Given the description of an element on the screen output the (x, y) to click on. 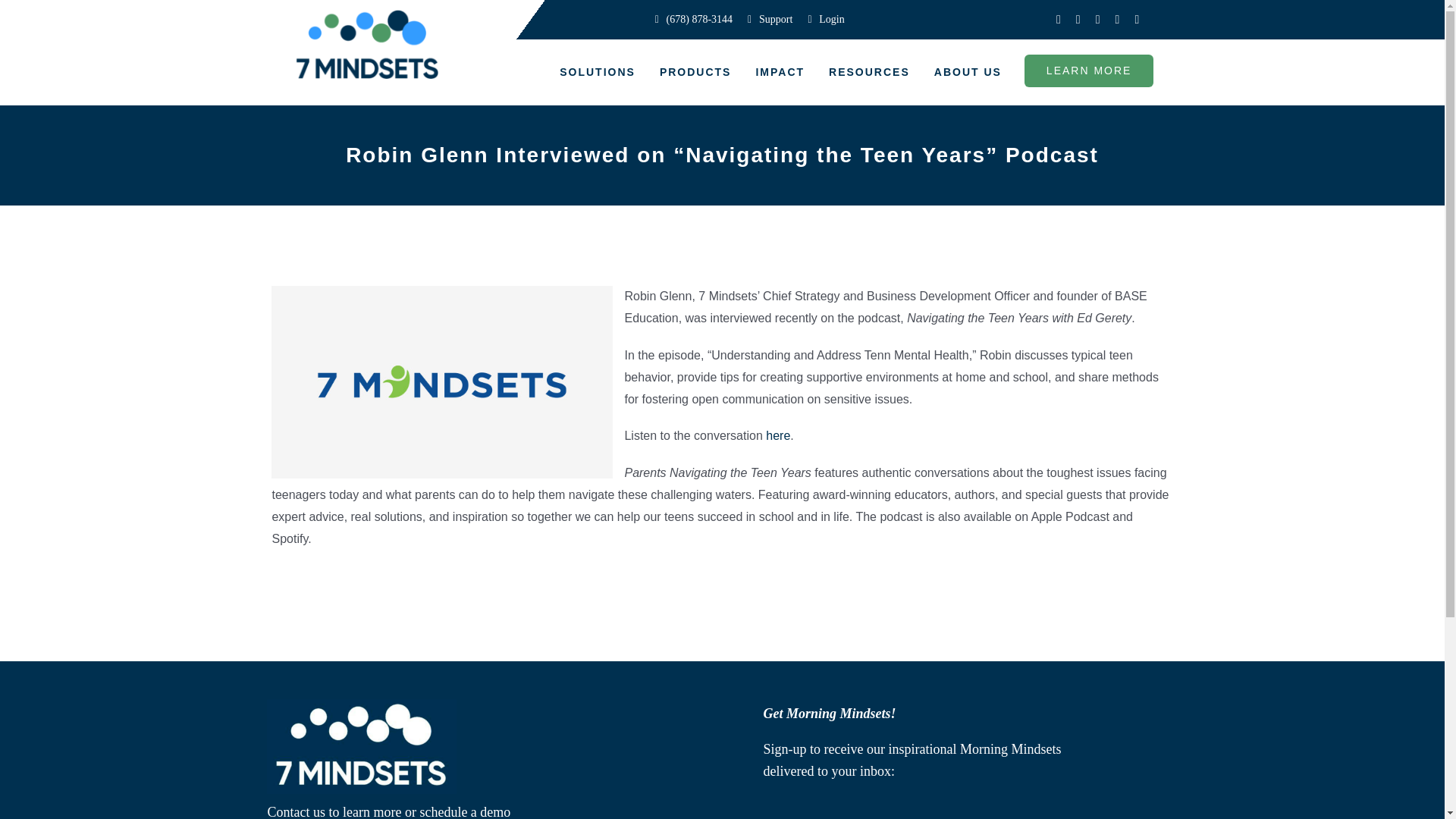
PRODUCTS (695, 72)
Form 0 (921, 804)
IMPACT (780, 72)
Login (825, 19)
Support (770, 19)
SOLUTIONS (597, 72)
RESOURCES (869, 72)
